Given the description of an element on the screen output the (x, y) to click on. 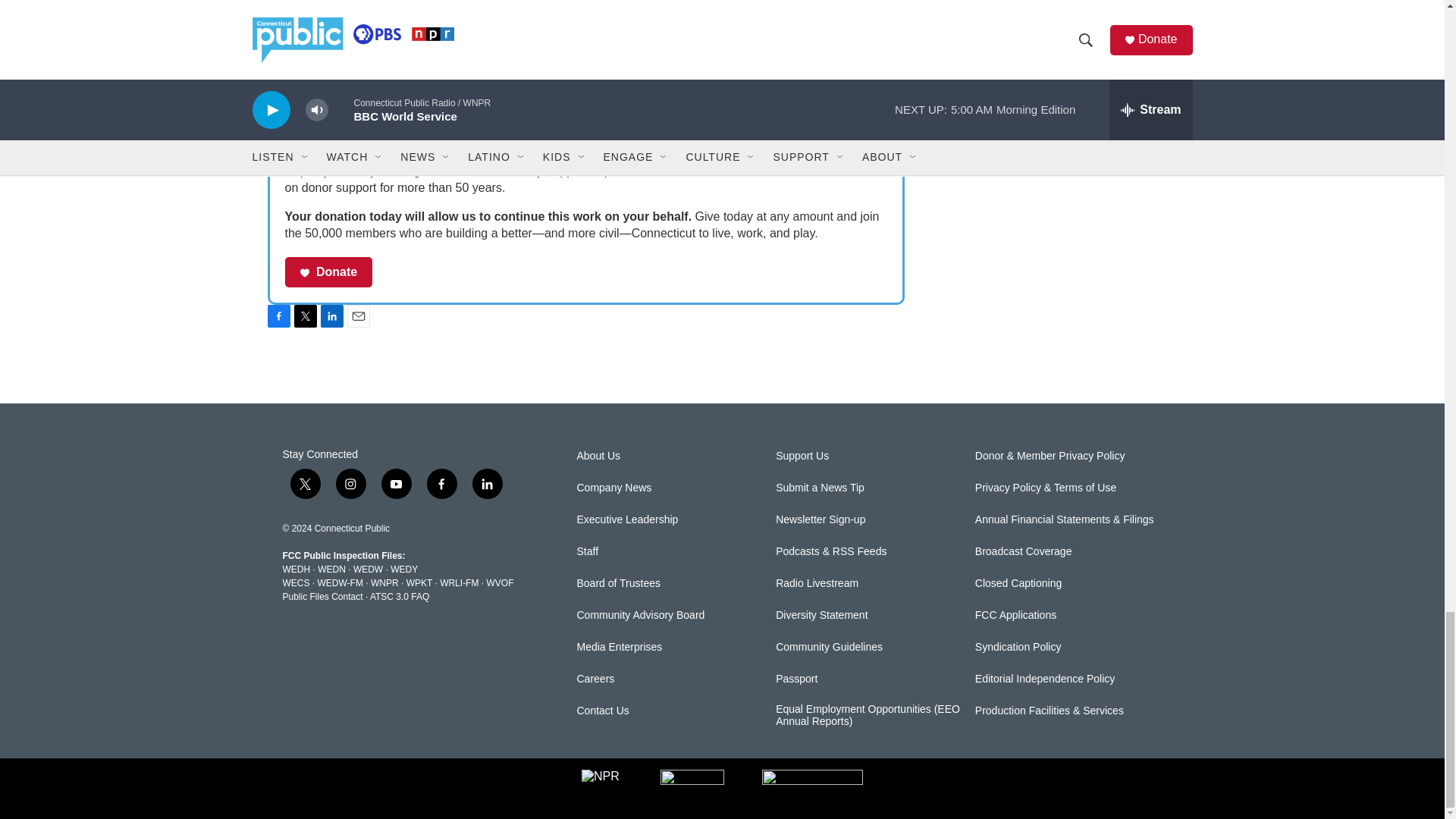
3rd party ad content (1062, 22)
